Given the description of an element on the screen output the (x, y) to click on. 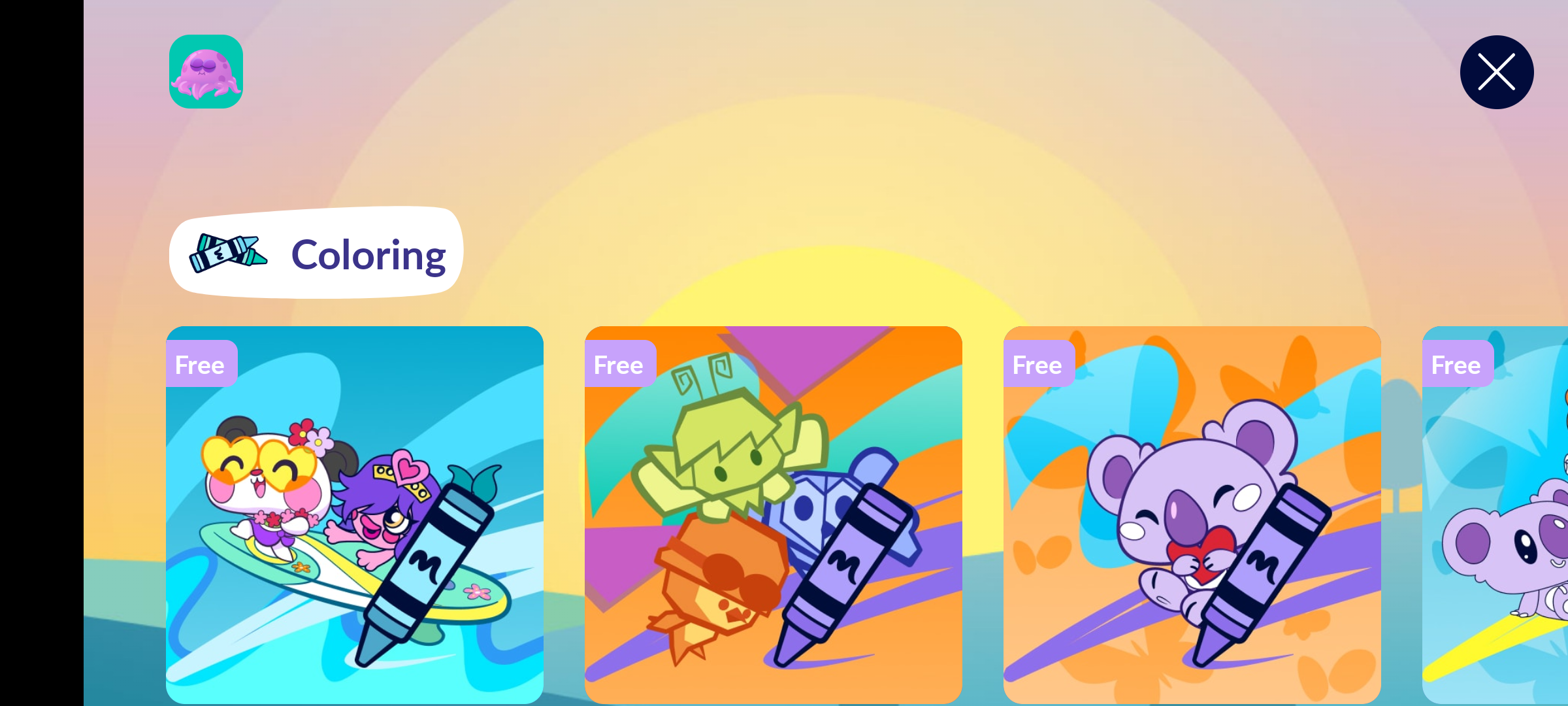
Profile icon (205, 71)
Featured Content Free (355, 514)
Featured Content Free (773, 514)
Featured Content Free (1192, 514)
